Given the description of an element on the screen output the (x, y) to click on. 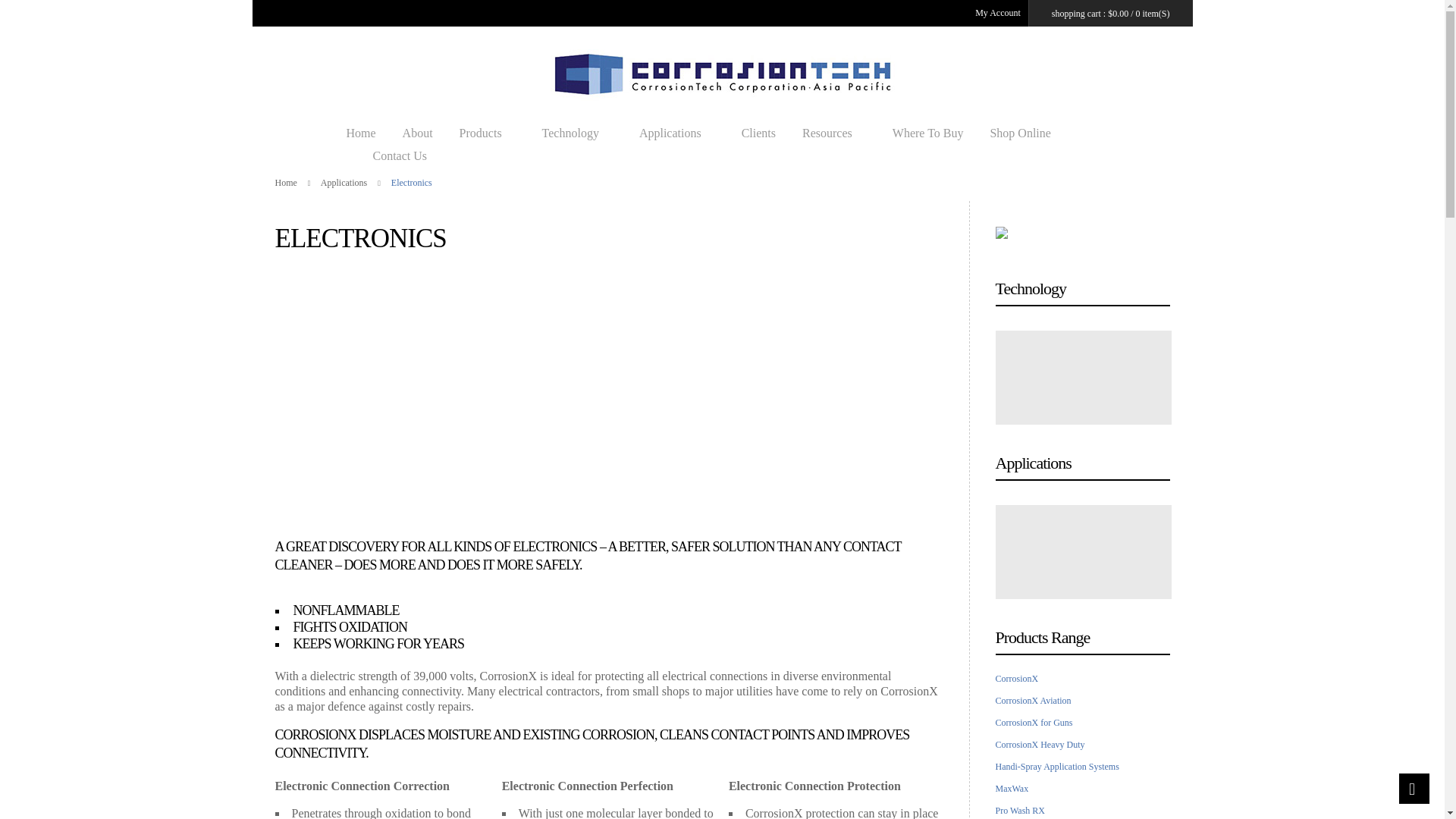
Home (360, 133)
Products (487, 133)
My Account (997, 12)
My Account (997, 12)
About (417, 133)
View your shopping bag (1077, 13)
Technology (576, 133)
Applications (676, 133)
